Given the description of an element on the screen output the (x, y) to click on. 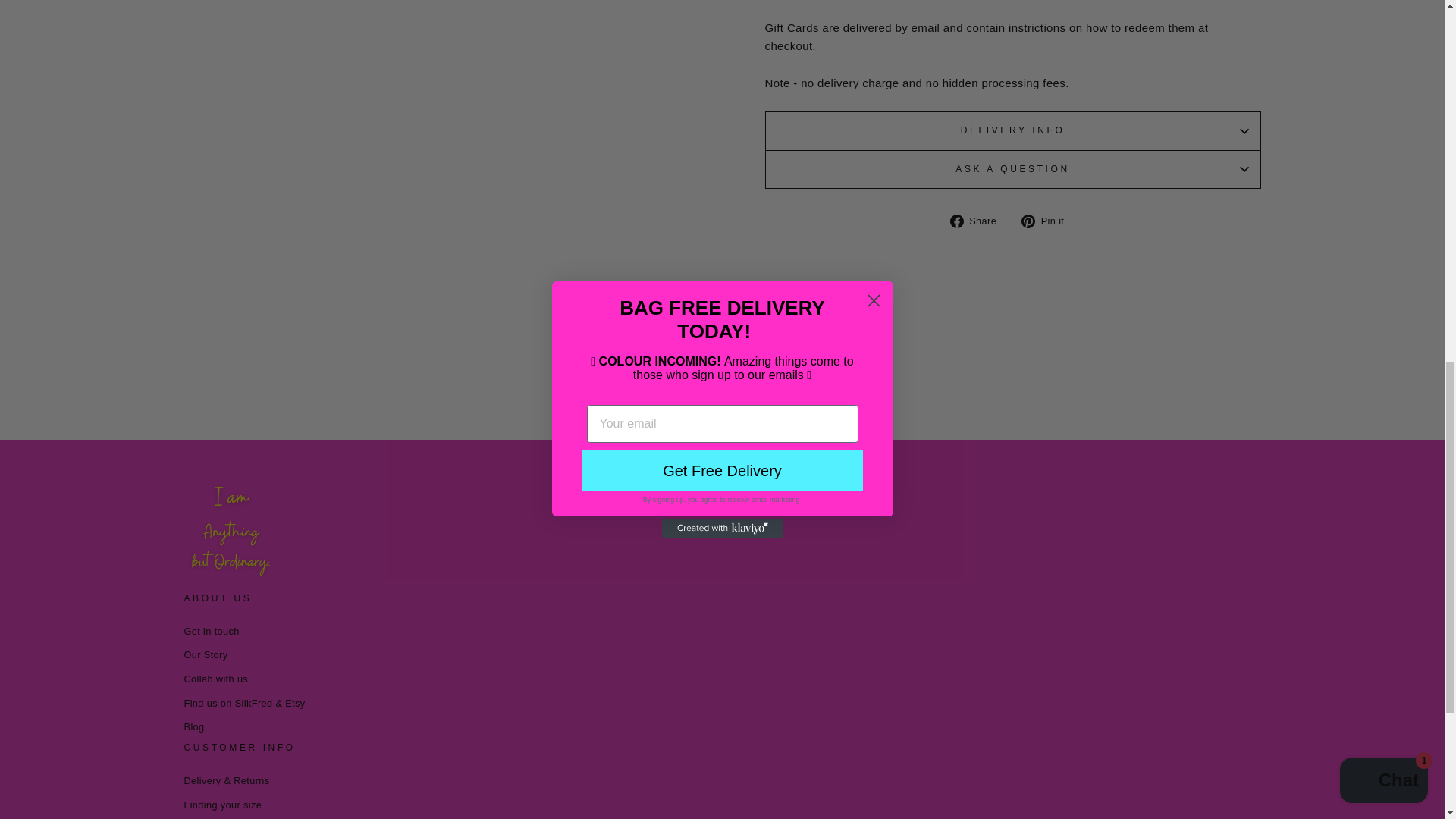
Pin on Pinterest (1048, 220)
Share on Facebook (978, 220)
